Given the description of an element on the screen output the (x, y) to click on. 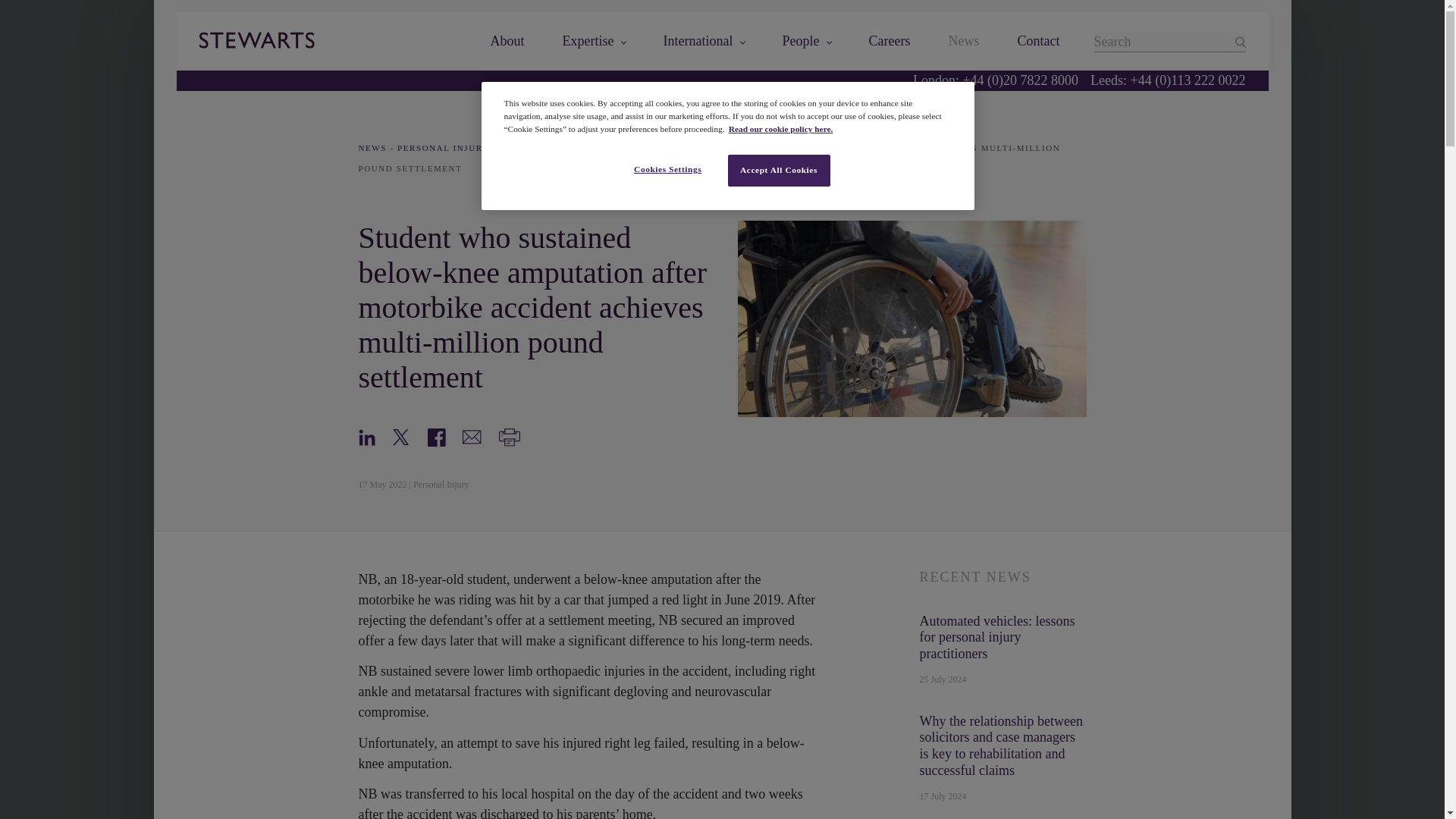
Careers (890, 41)
Share this on Facebook (436, 435)
International (703, 41)
About (507, 41)
Share this on Twitter (400, 435)
News (964, 41)
Email link (472, 435)
Print this page (509, 435)
Expertise (594, 41)
People (806, 41)
